Given the description of an element on the screen output the (x, y) to click on. 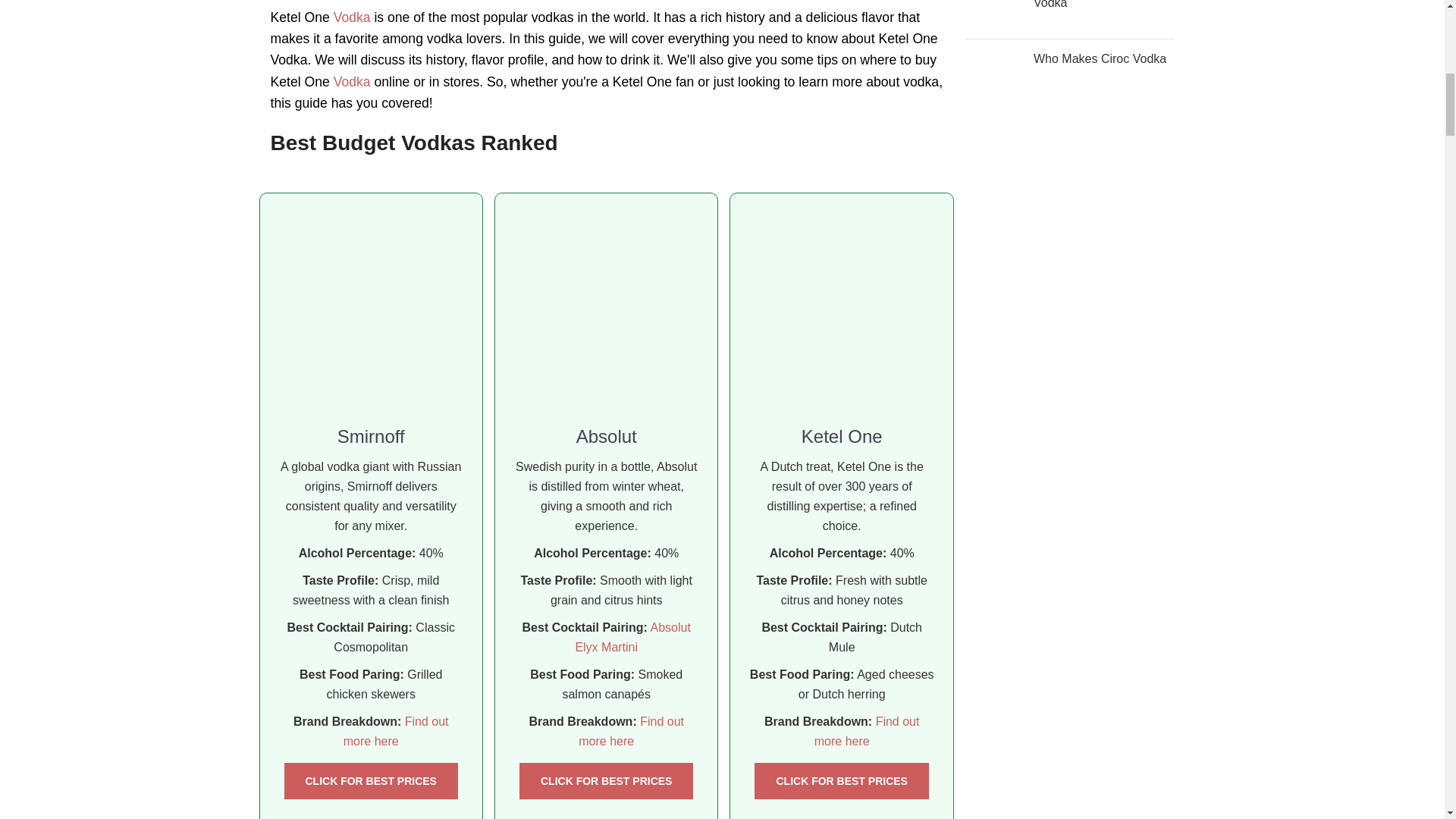
CLICK FOR BEST PRICES (606, 780)
Find out more here (631, 730)
Absolut Elyx Martini (632, 636)
CLICK FOR BEST PRICES (370, 780)
Vodka (352, 81)
Vodka (352, 17)
Find out more here (395, 730)
